Given the description of an element on the screen output the (x, y) to click on. 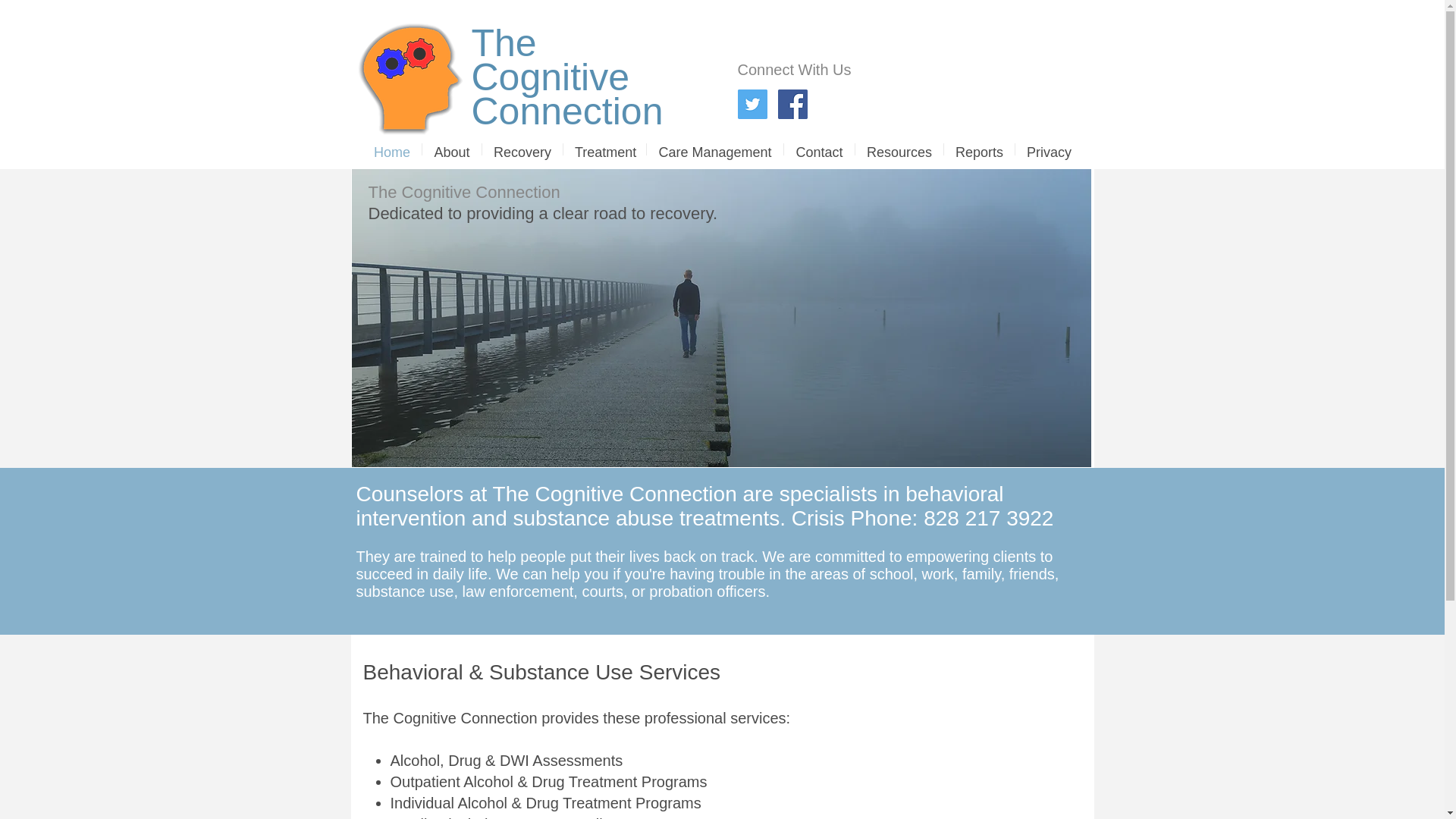
About (451, 149)
Resources (899, 149)
Contact (819, 149)
Treatment (604, 149)
Care Management (549, 60)
Home (714, 149)
Recovery (392, 149)
Privacy (521, 149)
